Given the description of an element on the screen output the (x, y) to click on. 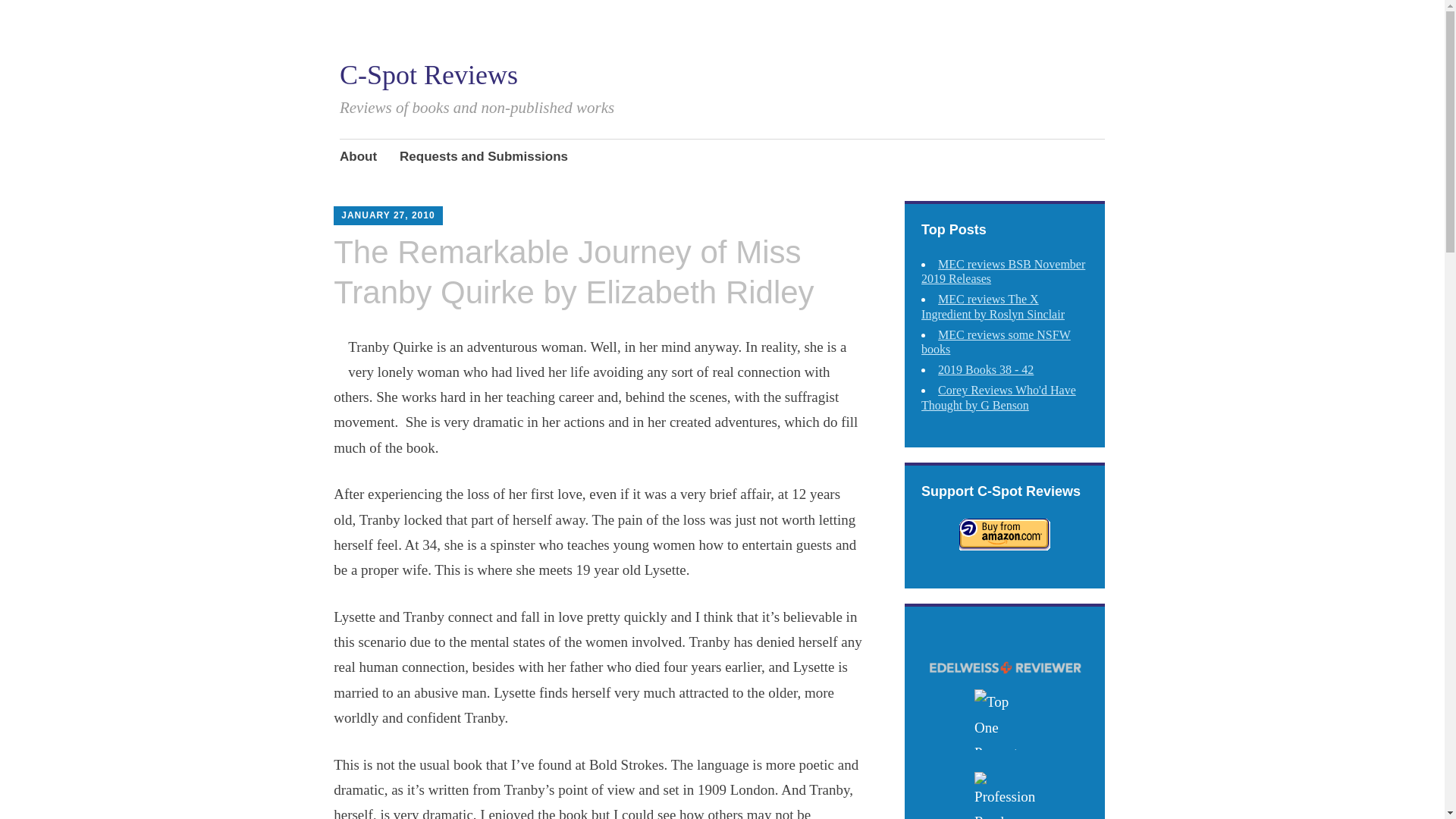
About (358, 157)
JANUARY 27, 2010 (386, 214)
Professional Reader (1004, 795)
Top One Percent (1004, 719)
Requests and Submissions (482, 157)
C-Spot Reviews (428, 74)
